Given the description of an element on the screen output the (x, y) to click on. 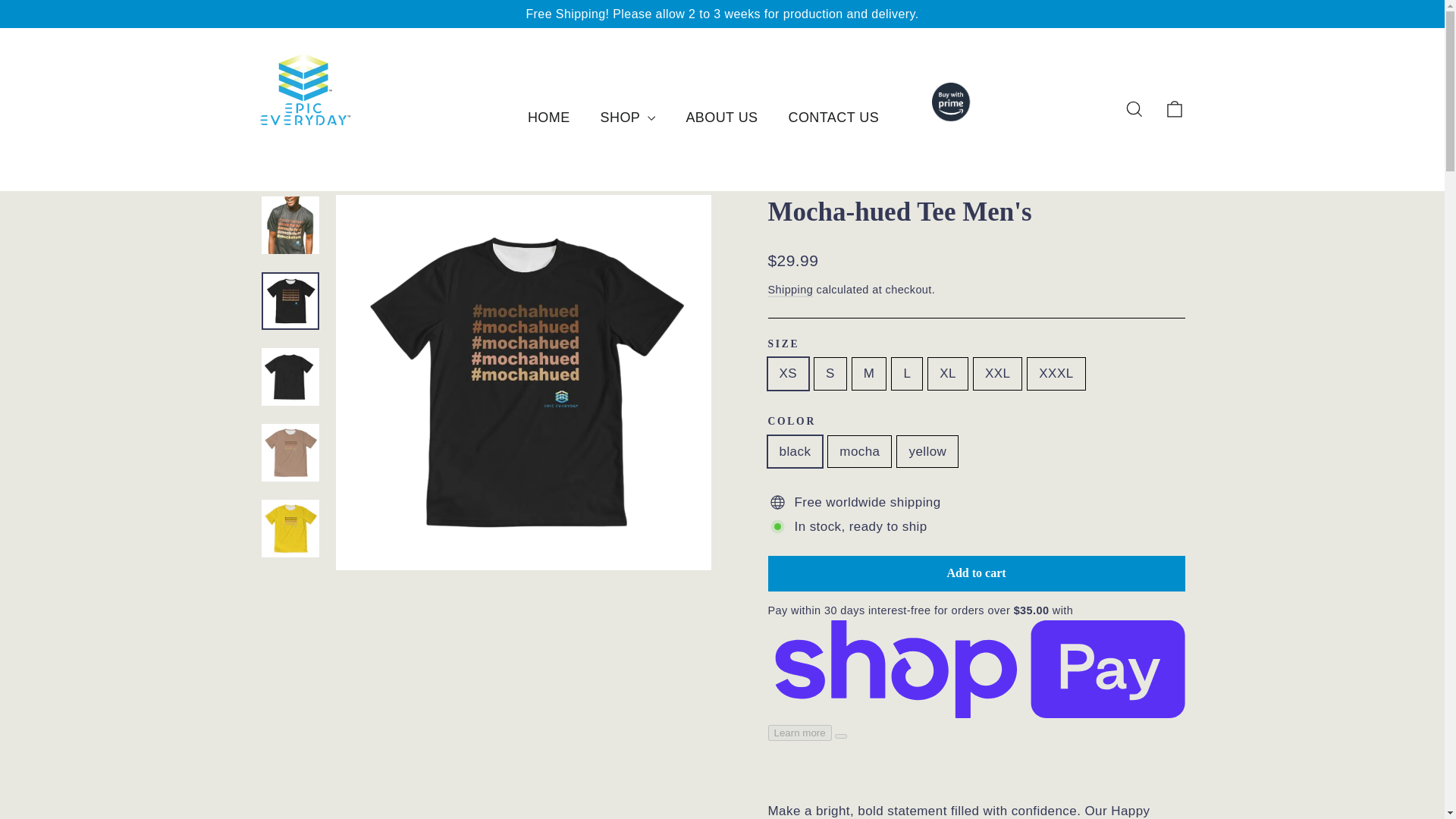
icon-bag-minimal (1174, 108)
CONTACT US (834, 117)
HOME (548, 117)
